Given the description of an element on the screen output the (x, y) to click on. 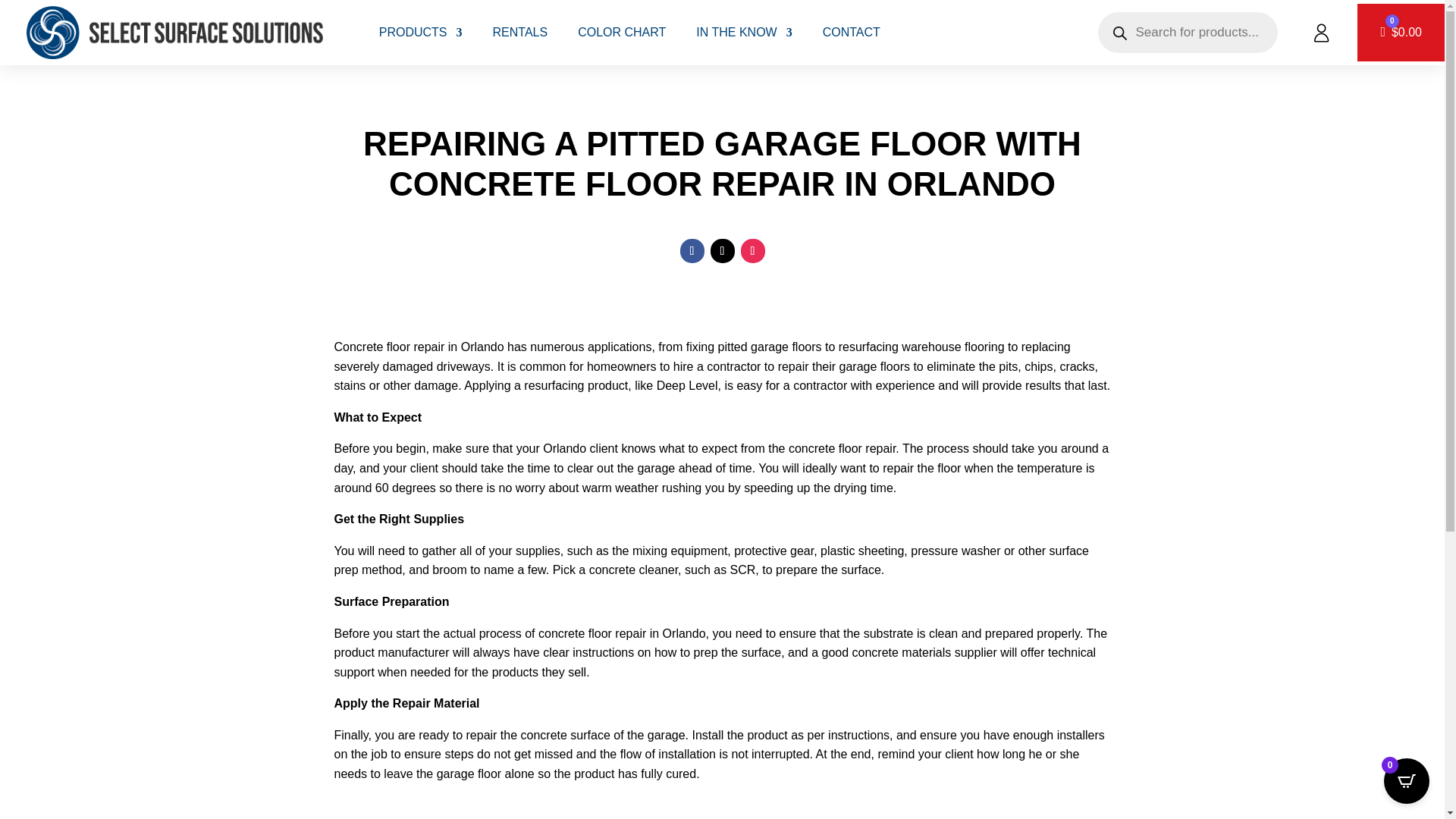
COLOR CHART (621, 32)
CONTACT (851, 32)
user-account (1320, 31)
Follow on Instagram (751, 250)
RENTALS (520, 32)
Follow on Facebook (691, 250)
Follow on X (721, 250)
IN THE KNOW (743, 32)
PRODUCTS (420, 32)
